Given the description of an element on the screen output the (x, y) to click on. 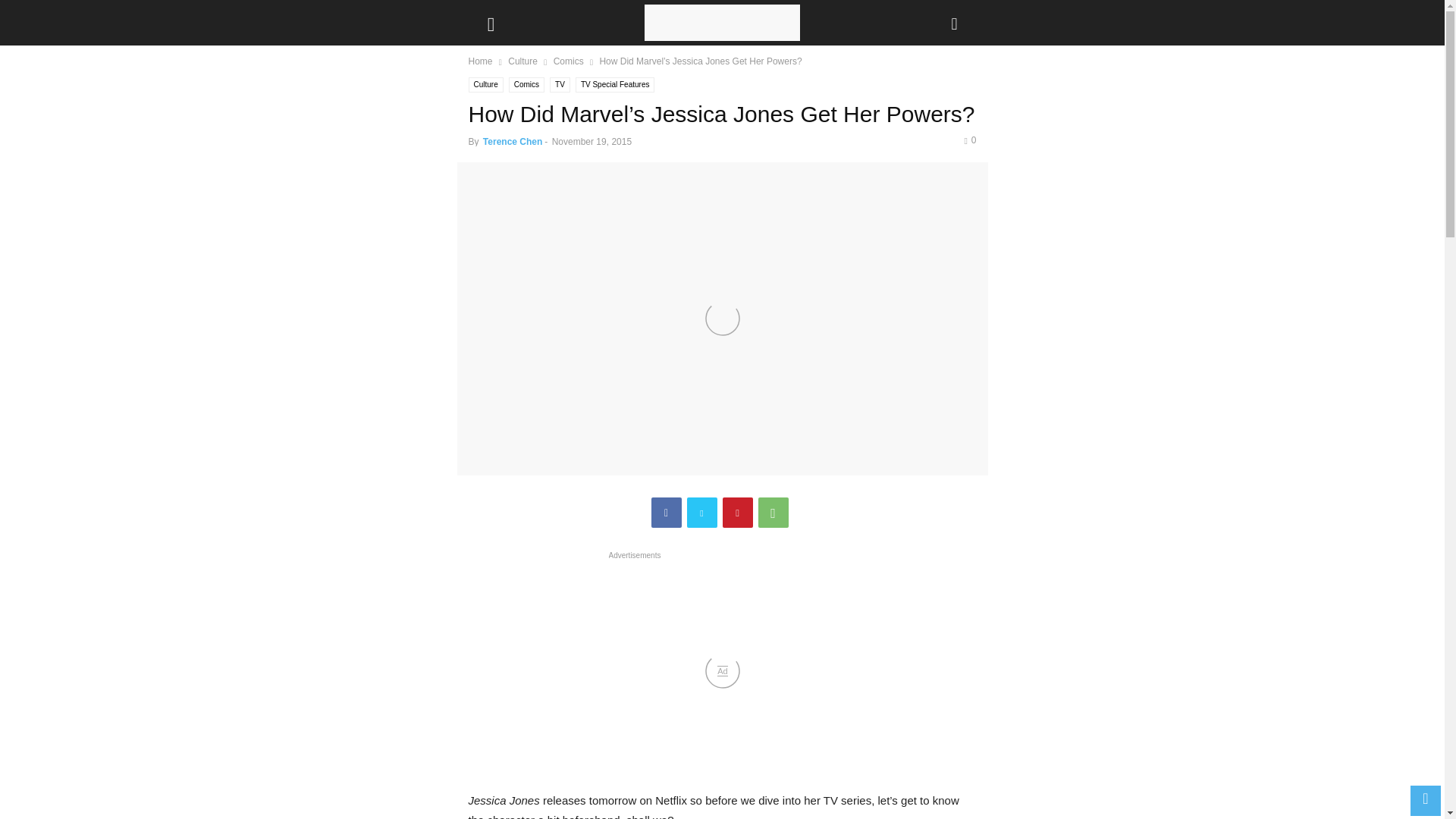
WhatsApp (773, 512)
Comics (568, 61)
0 (969, 140)
Facebook (665, 512)
TV Special Features (615, 84)
TV (560, 84)
Terence Chen (512, 141)
Comics (526, 84)
View all posts in Culture (522, 61)
Home (480, 61)
View all posts in Comics (568, 61)
Twitter (702, 512)
Culture (485, 84)
Pinterest (737, 512)
